Given the description of an element on the screen output the (x, y) to click on. 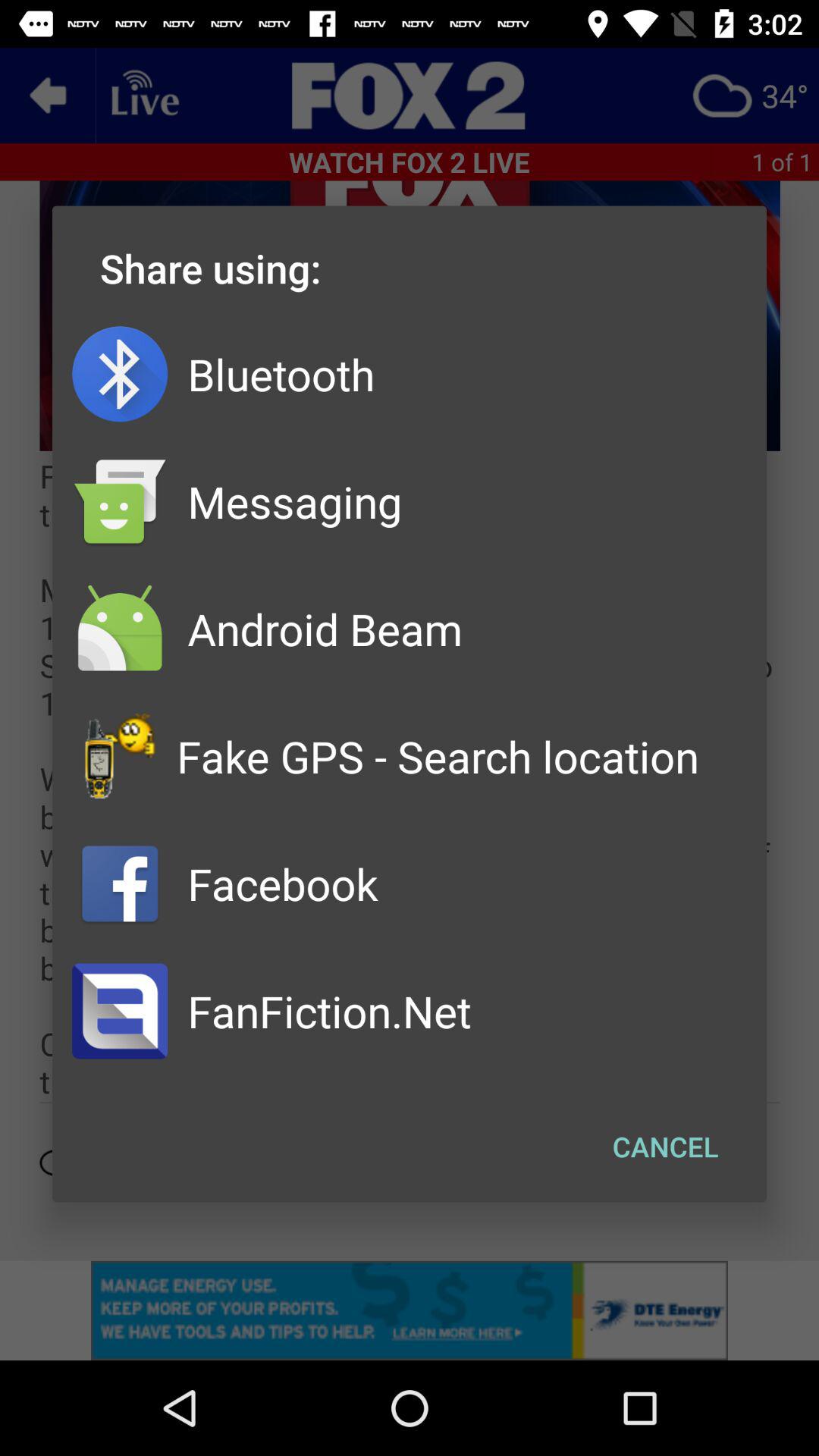
click app below the fake gps search item (665, 1146)
